Given the description of an element on the screen output the (x, y) to click on. 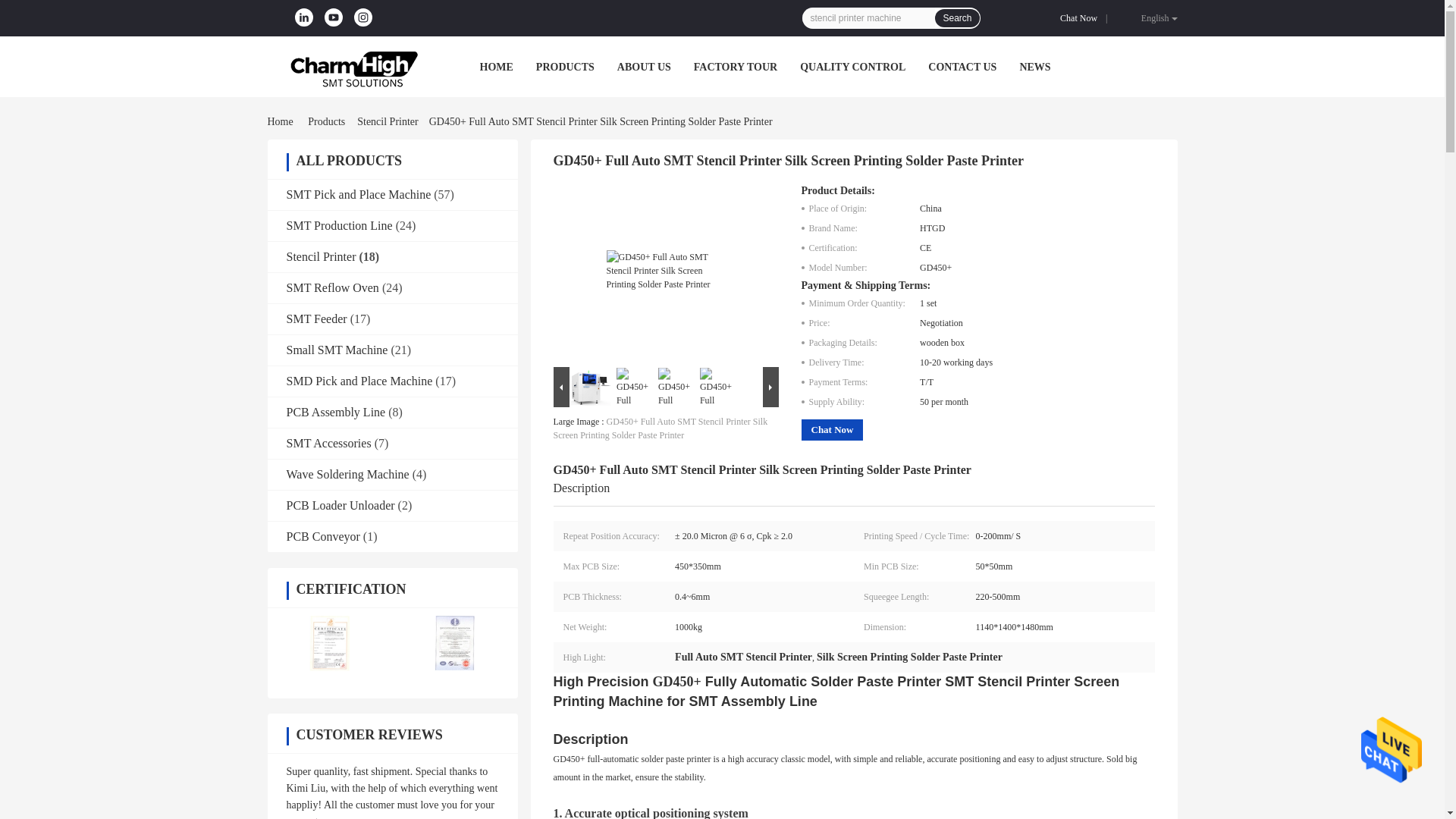
Home (282, 121)
CHARMHIGH  TECHNOLOGY  LIMITED Instagram (362, 17)
Chat Now (1081, 18)
CHARMHIGH  TECHNOLOGY  LIMITED LinkedIn (303, 17)
PRODUCTS (564, 66)
HOME (495, 66)
Search (956, 18)
CONTACT US (961, 66)
NEWS (1034, 66)
Products (325, 121)
